Given the description of an element on the screen output the (x, y) to click on. 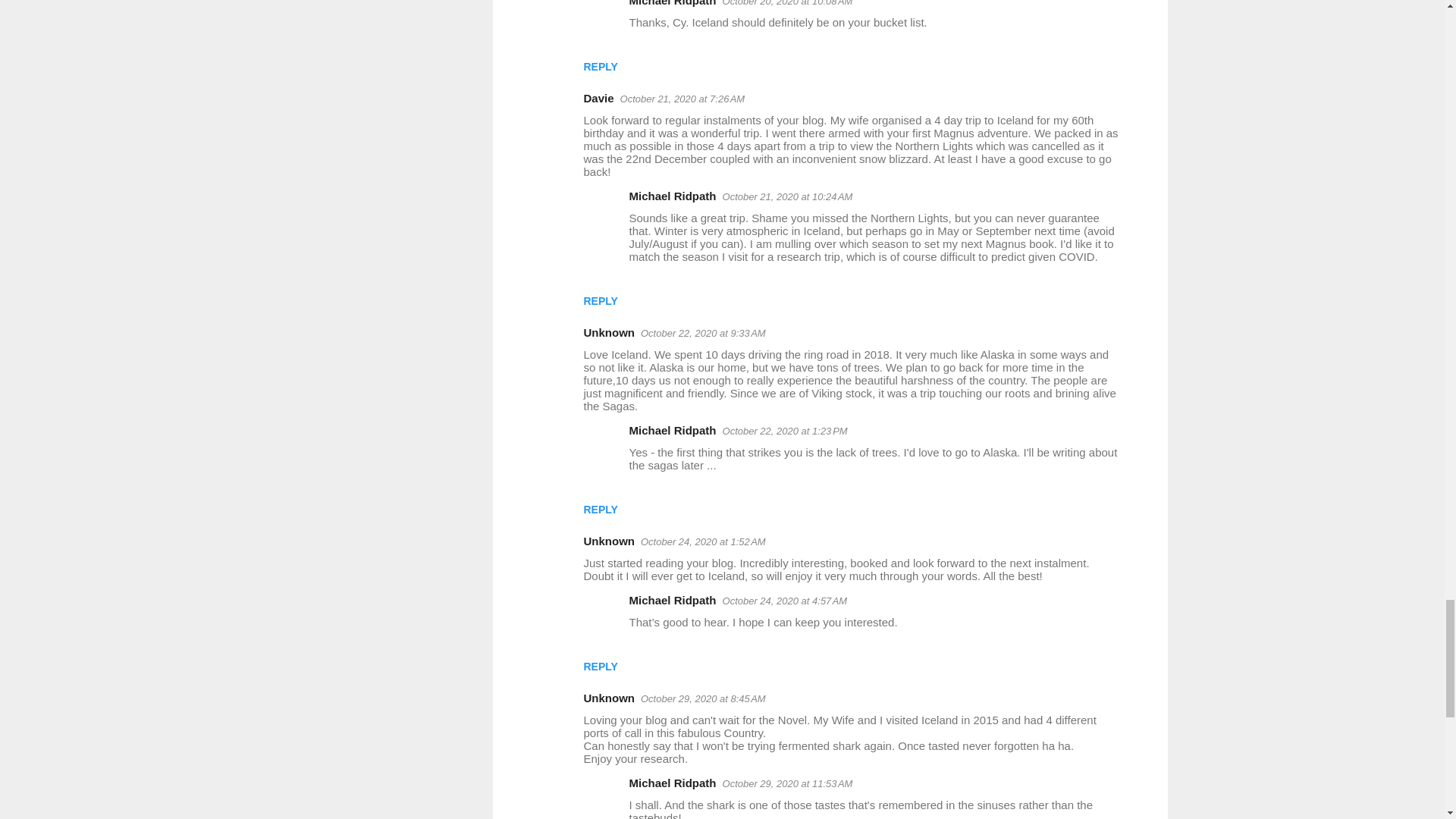
Davie (598, 97)
REPLY (600, 300)
REPLY (600, 66)
Michael Ridpath (672, 195)
Michael Ridpath (672, 3)
